Given the description of an element on the screen output the (x, y) to click on. 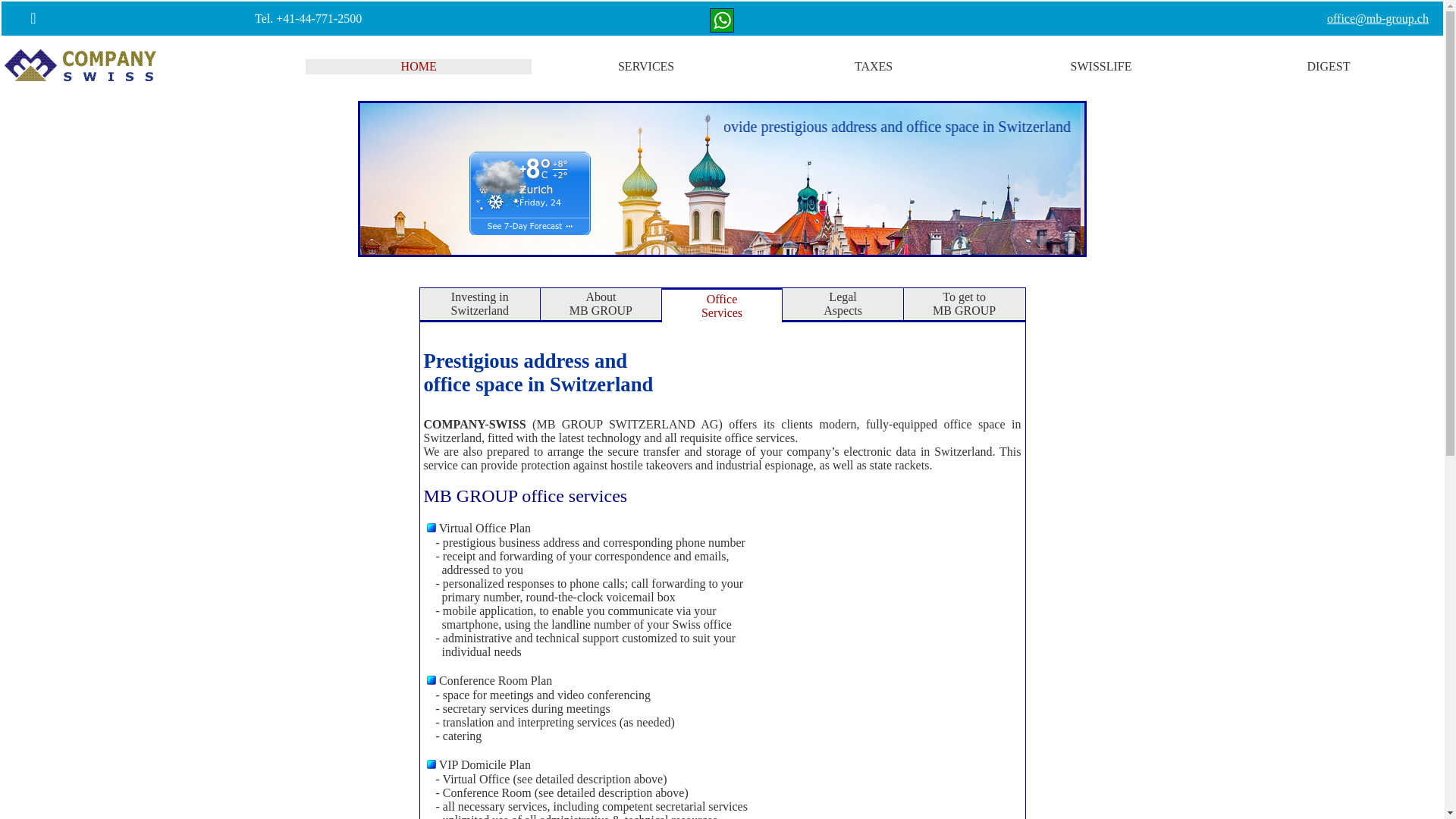
SWISSLIFE Element type: text (1101, 65)
DIGEST Element type: text (1328, 65)
Investing in
Switzerland Element type: text (479, 303)
Speak to MB GROUP via WhatsApp Element type: hover (721, 27)
Office
Services Element type: text (721, 305)
Legal
Aspects Element type: text (842, 303)
HOME Element type: text (418, 65)
About
MB GROUP Element type: text (600, 303)
To get to
MB GROUP Element type: text (963, 303)
TAXES Element type: text (873, 65)
office@mb-group.ch Element type: text (1377, 18)
SERVICES Element type: text (646, 65)
